Given the description of an element on the screen output the (x, y) to click on. 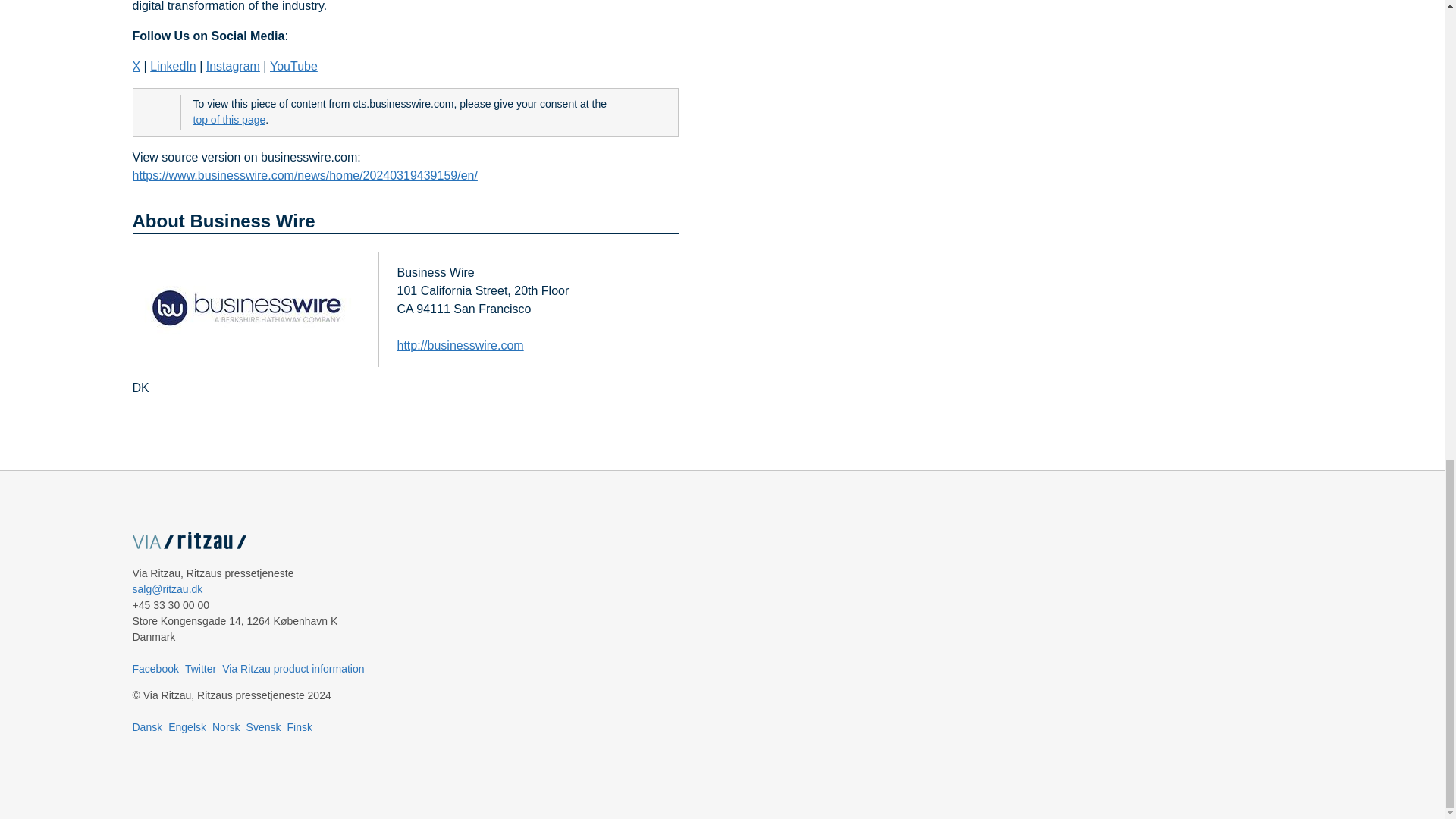
YouTube (293, 66)
Engelsk (187, 727)
Dansk (146, 727)
LinkedIn (172, 66)
top of this page (228, 119)
Facebook (154, 668)
Twitter (199, 668)
Via Ritzau product information (293, 668)
Svensk (263, 727)
Norsk (226, 727)
